Given the description of an element on the screen output the (x, y) to click on. 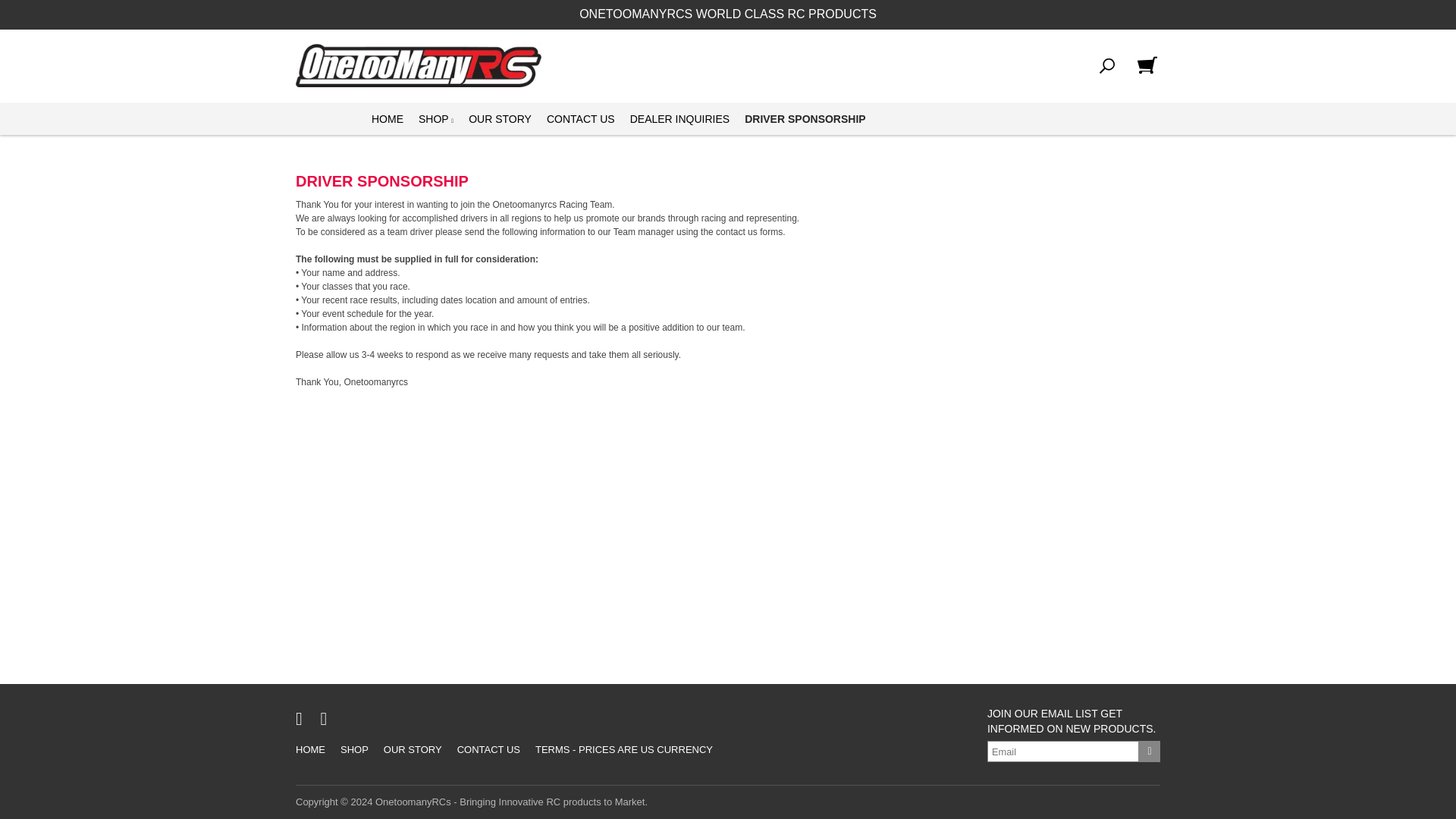
DRIVER SPONSORSHIP (804, 119)
CONTACT US (580, 119)
CONTACT US (488, 749)
HOME (310, 749)
DEALER INQUIRIES (679, 119)
TERMS - PRICES ARE US CURRENCY (623, 749)
SHOP (354, 749)
SHOP (435, 119)
OUR STORY (412, 749)
HOME (386, 119)
OUR STORY (499, 119)
